Given the description of an element on the screen output the (x, y) to click on. 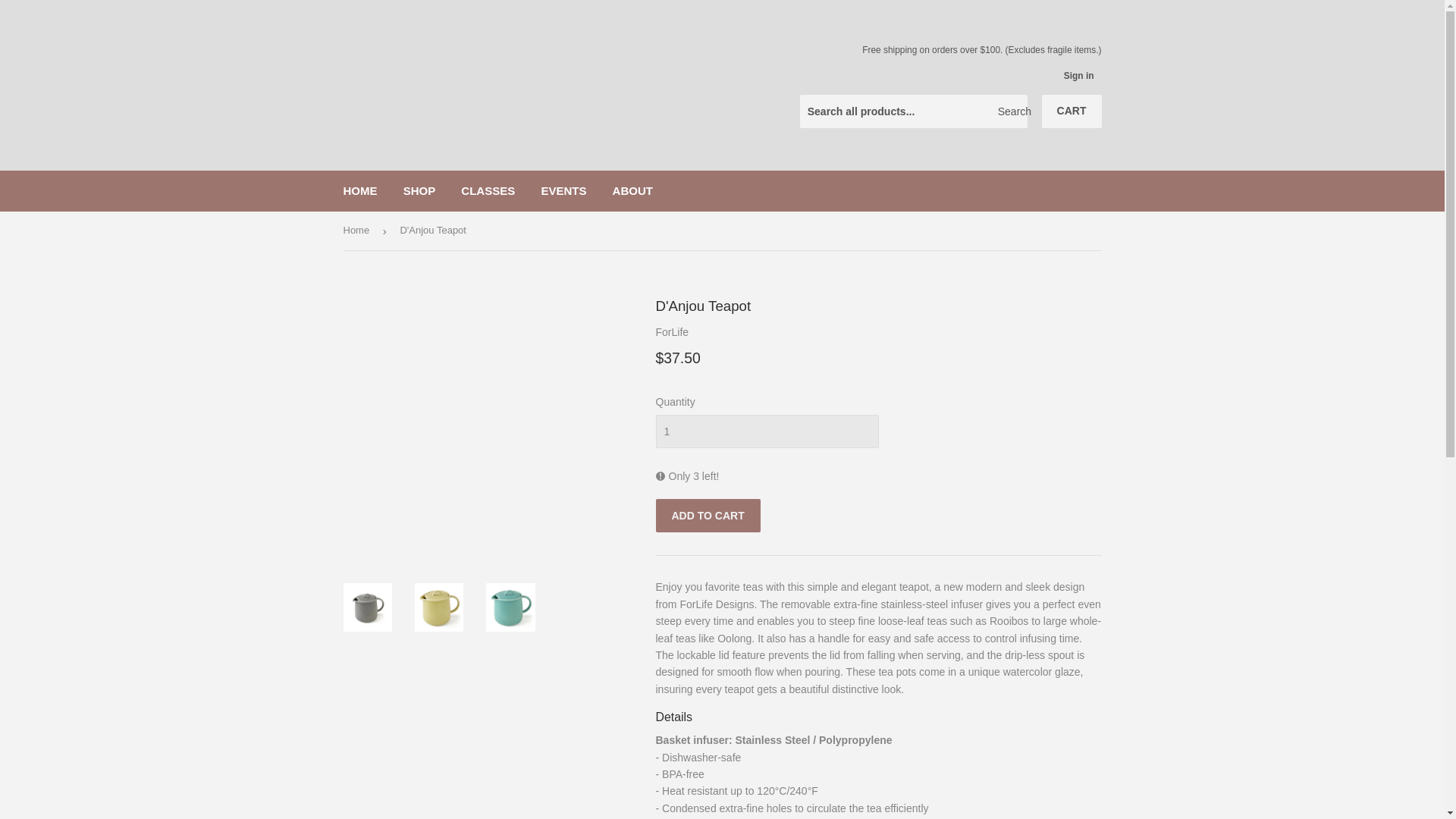
HOME (359, 190)
1 (766, 430)
Sign in (1079, 75)
SHOP (418, 190)
CART (1072, 111)
Search (1009, 111)
